Given the description of an element on the screen output the (x, y) to click on. 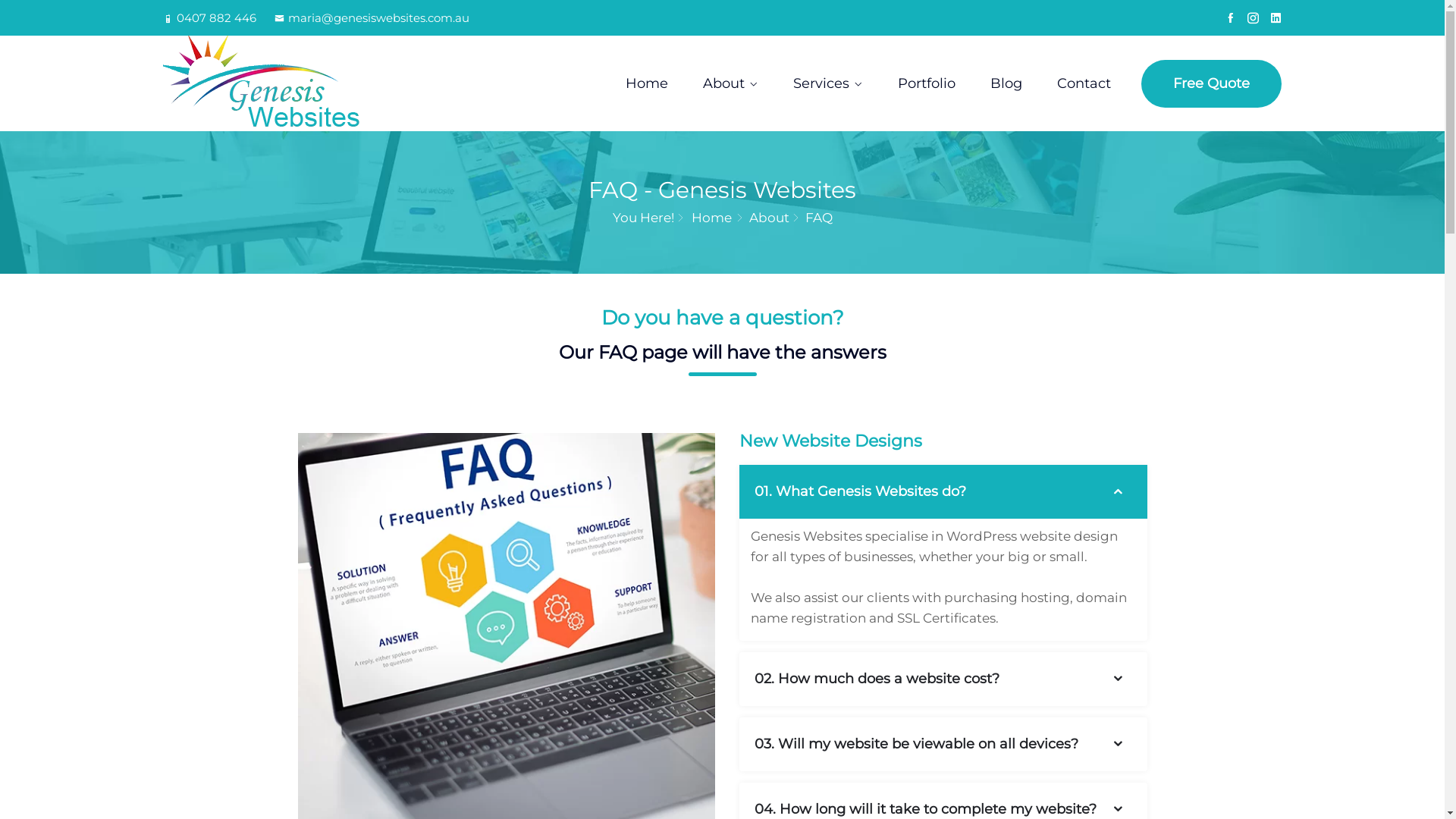
Genesis Websites Element type: hover (294, 83)
Home Element type: text (711, 217)
Services Element type: text (827, 83)
Linkedin Element type: hover (1275, 18)
02. How much does a website cost? Element type: text (942, 679)
Home Element type: text (646, 83)
About Element type: text (730, 83)
maria@genesiswebsites.com.au Element type: text (371, 18)
Contact Element type: text (1083, 83)
03. Will my website be viewable on all devices? Element type: text (942, 744)
Portfolio Element type: text (926, 83)
Facebook Element type: hover (1230, 18)
Instagram Element type: hover (1252, 18)
Free Quote Element type: text (1211, 83)
0407 882 446 Element type: text (209, 18)
01. What Genesis Websites do? Element type: text (942, 491)
About Element type: text (769, 217)
Blog Element type: text (1006, 83)
